Given the description of an element on the screen output the (x, y) to click on. 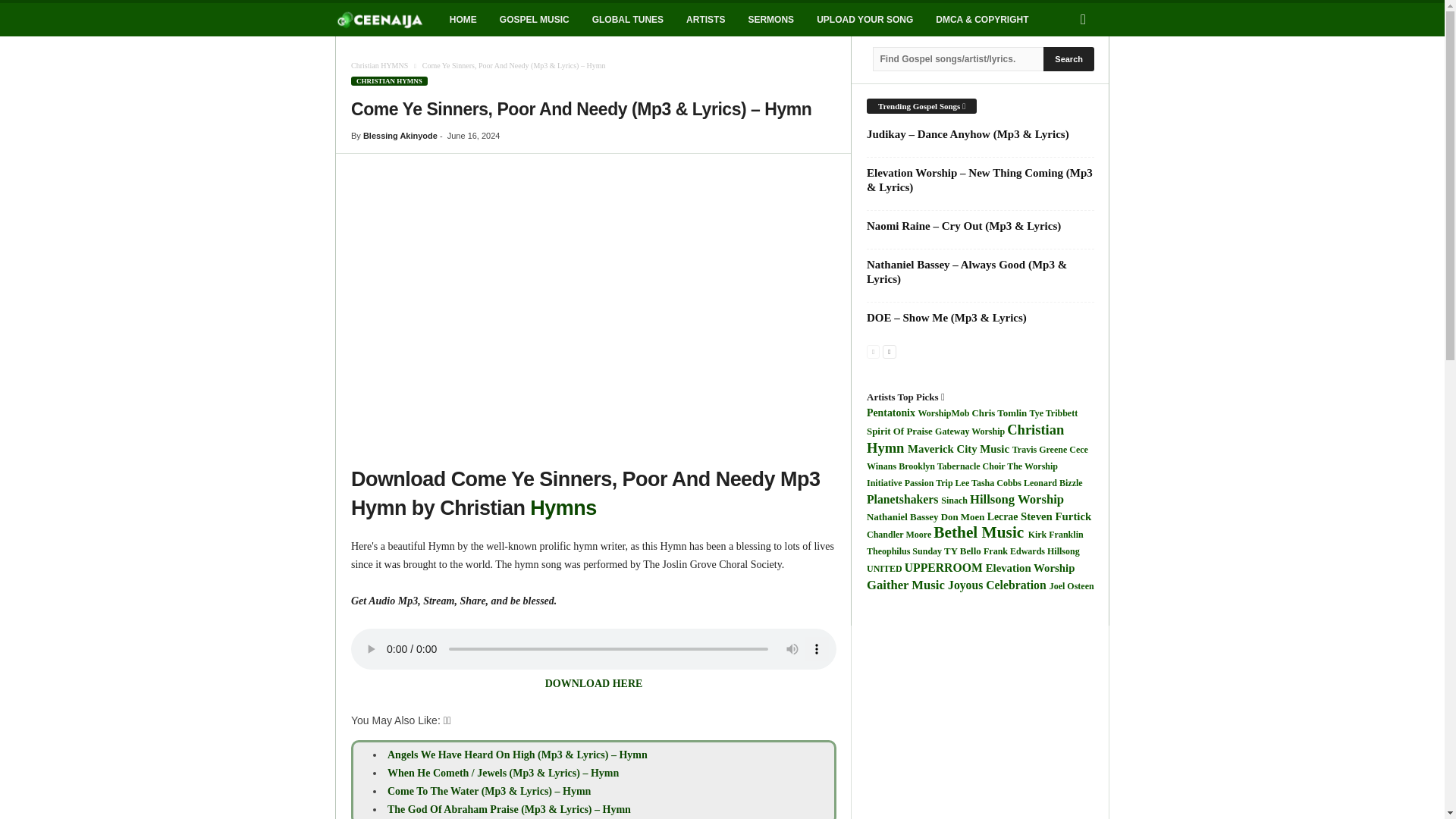
Search (1068, 58)
HOME (462, 19)
CeeNaija (386, 19)
SERMONS (770, 19)
GLOBAL TUNES (627, 19)
View all posts in Christian HYMNS (378, 65)
GOSPEL MUSIC (533, 19)
UPLOAD YOUR SONG (864, 19)
ARTISTS (705, 19)
